Given the description of an element on the screen output the (x, y) to click on. 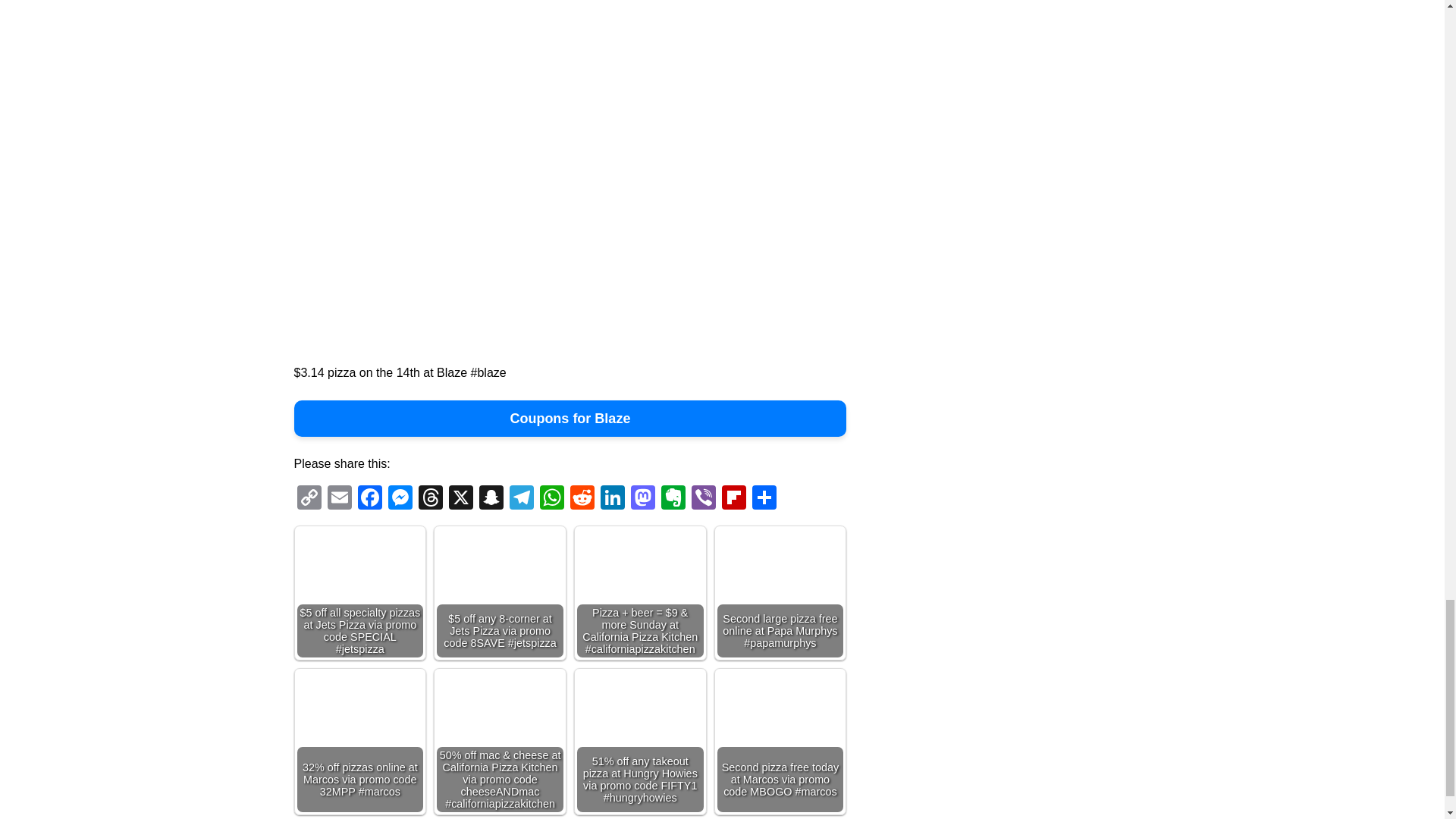
Copy Link (309, 499)
WhatsApp (552, 499)
LinkedIn (611, 499)
Mastodon (642, 499)
Coupons for Blaze (570, 418)
Copy Link (309, 499)
Threads (429, 499)
Evernote (673, 499)
Email (339, 499)
Facebook (370, 499)
